Given the description of an element on the screen output the (x, y) to click on. 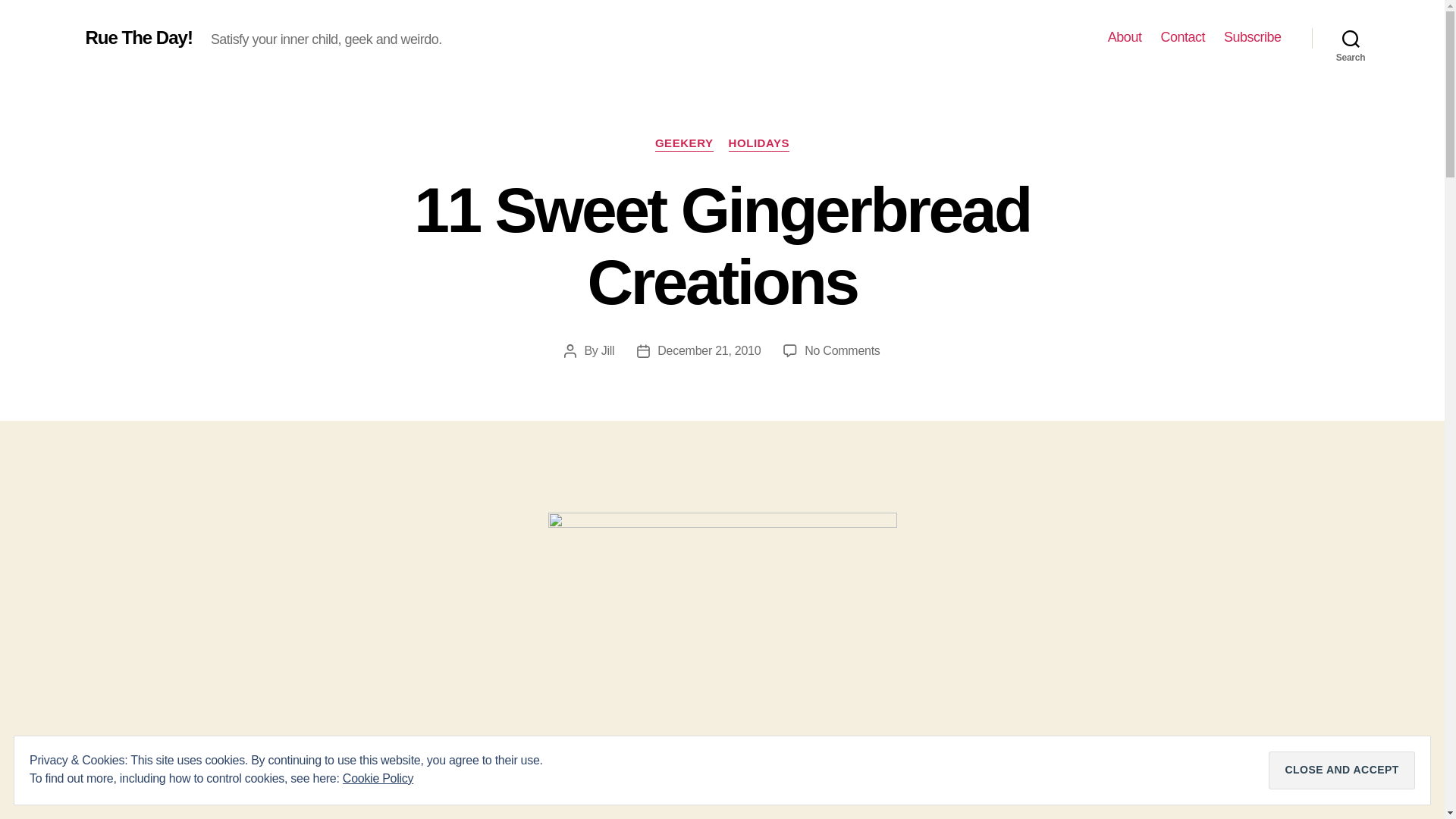
460gingerbreadatat (721, 662)
GEEKERY (684, 143)
Search (1350, 37)
Rue The Day! (138, 37)
HOLIDAYS (759, 143)
December 21, 2010 (709, 350)
Contact (1182, 37)
Jill (607, 350)
About (1124, 37)
Close and accept (1341, 770)
Subscribe (1252, 37)
